Given the description of an element on the screen output the (x, y) to click on. 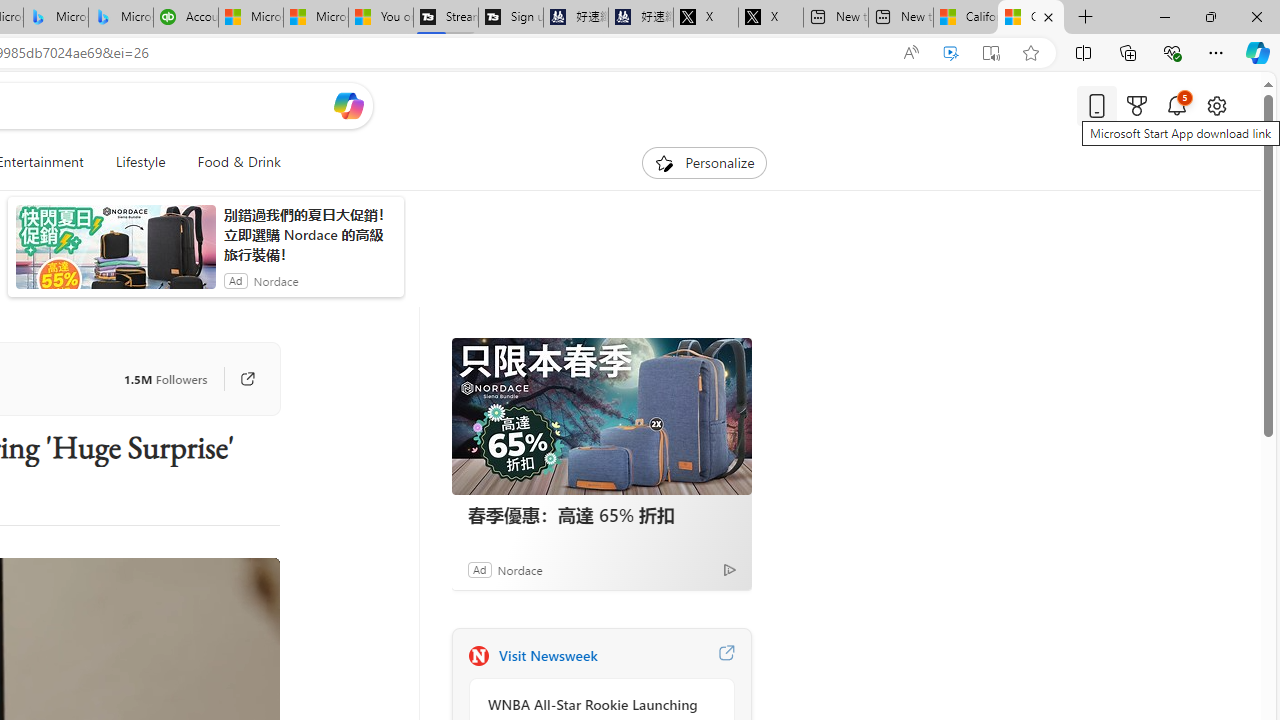
Food & Drink (230, 162)
